Given the description of an element on the screen output the (x, y) to click on. 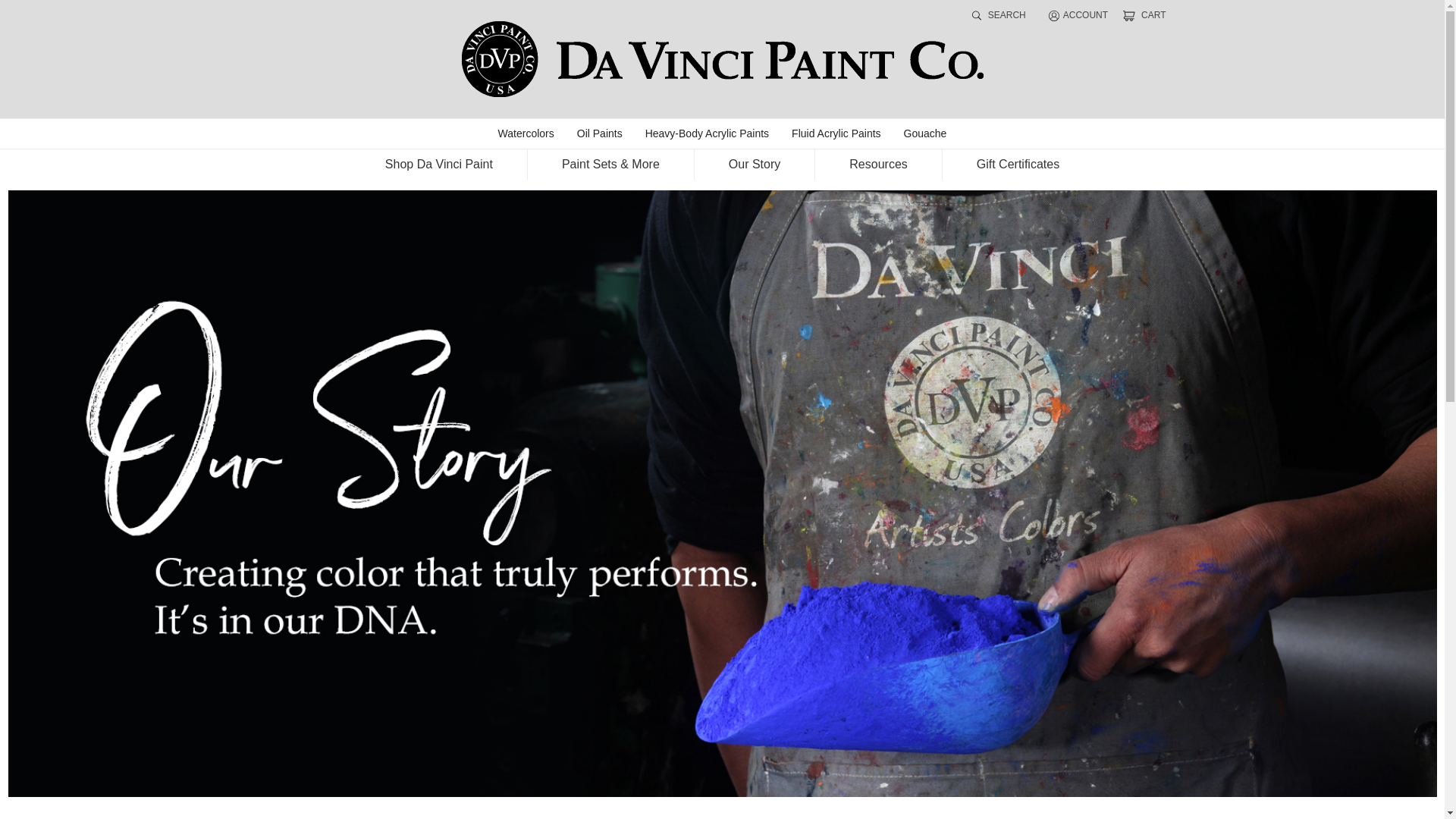
Fluid Acrylic Paints (836, 133)
SEARCH (998, 15)
Oil Paints (599, 133)
Shop Da Vinci Paint (439, 164)
Gouache (925, 133)
Da Vinci Paint Co. (721, 59)
Watercolors (525, 133)
Heavy-Body Acrylic Paints (706, 133)
